Given the description of an element on the screen output the (x, y) to click on. 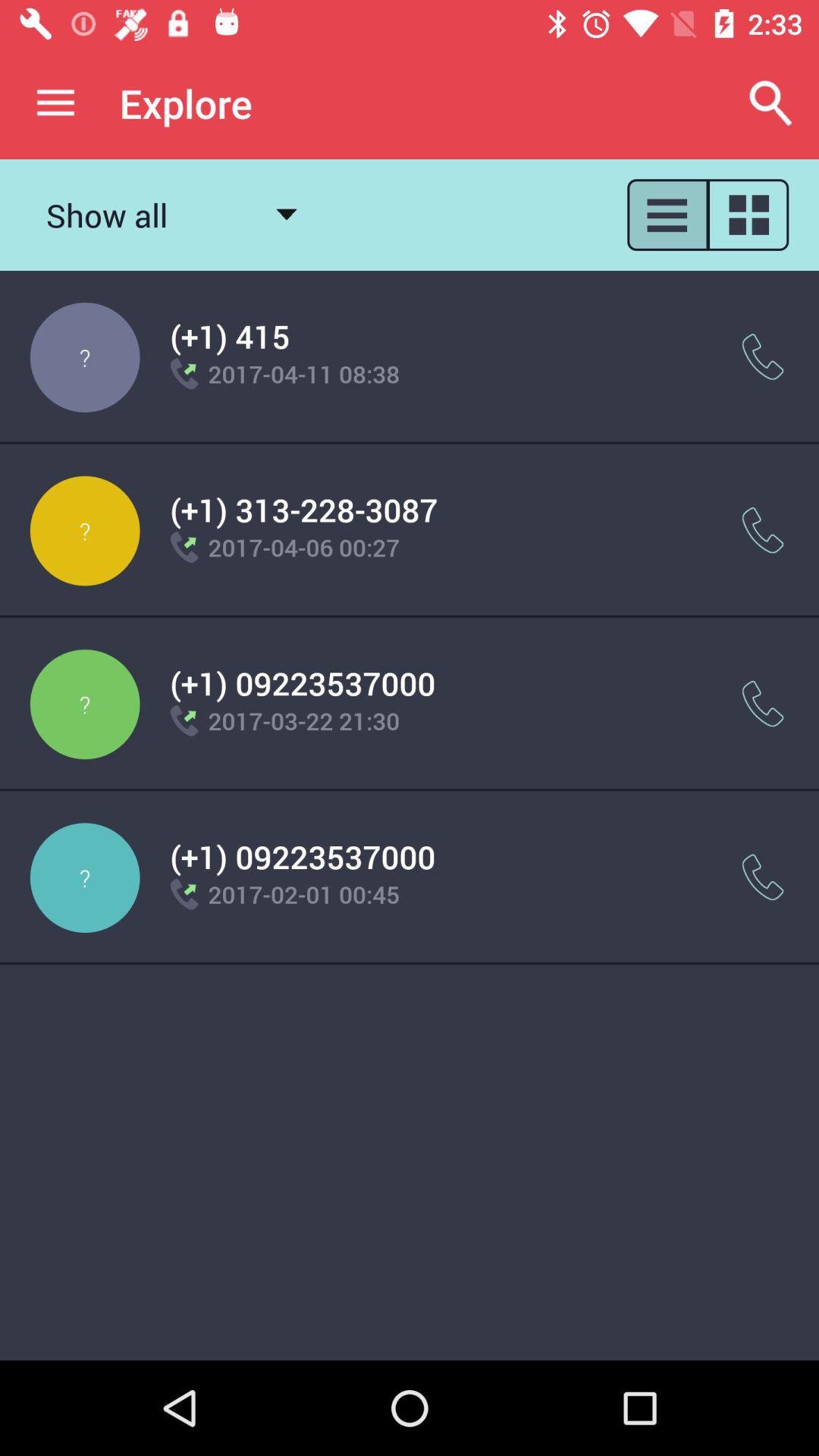
call number (762, 356)
